Given the description of an element on the screen output the (x, y) to click on. 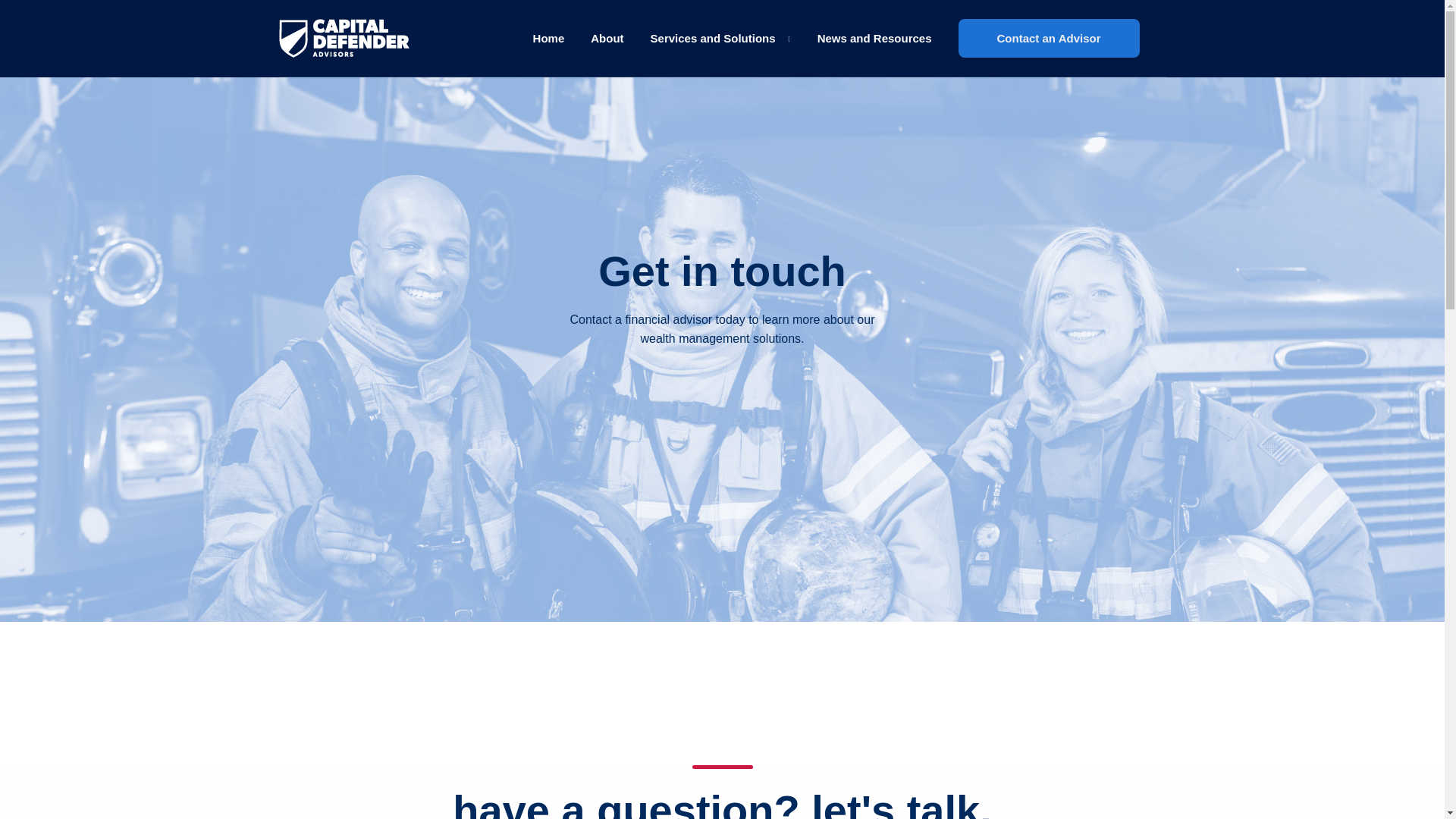
About (607, 38)
Contact an Advisor (1048, 38)
Home (548, 38)
Services and Solutions (720, 38)
News and Resources (873, 38)
